Given the description of an element on the screen output the (x, y) to click on. 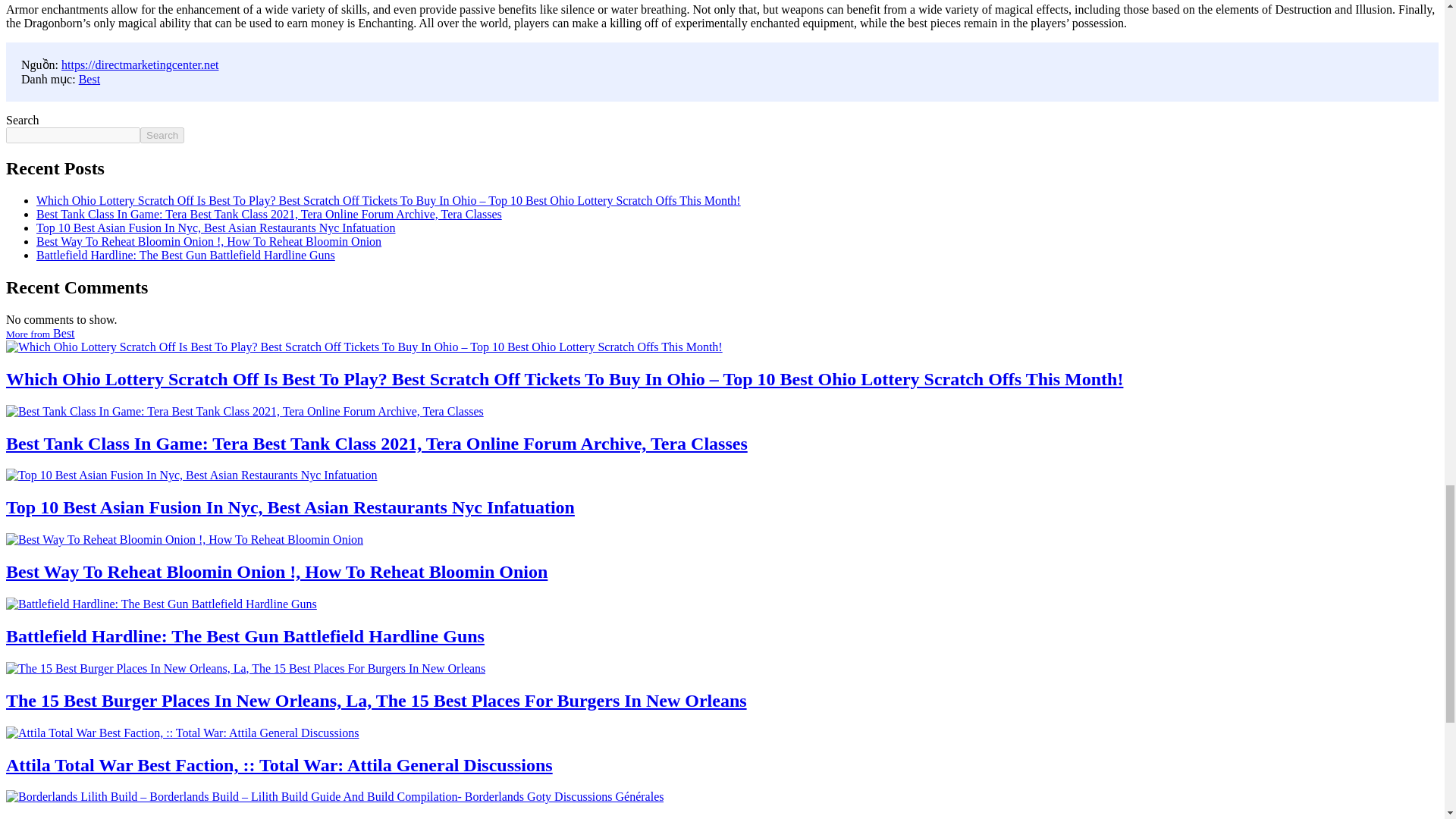
Best (89, 78)
Battlefield Hardline: The Best Gun Battlefield Hardline Guns (185, 254)
Search (161, 135)
More from Best (40, 332)
